Given the description of an element on the screen output the (x, y) to click on. 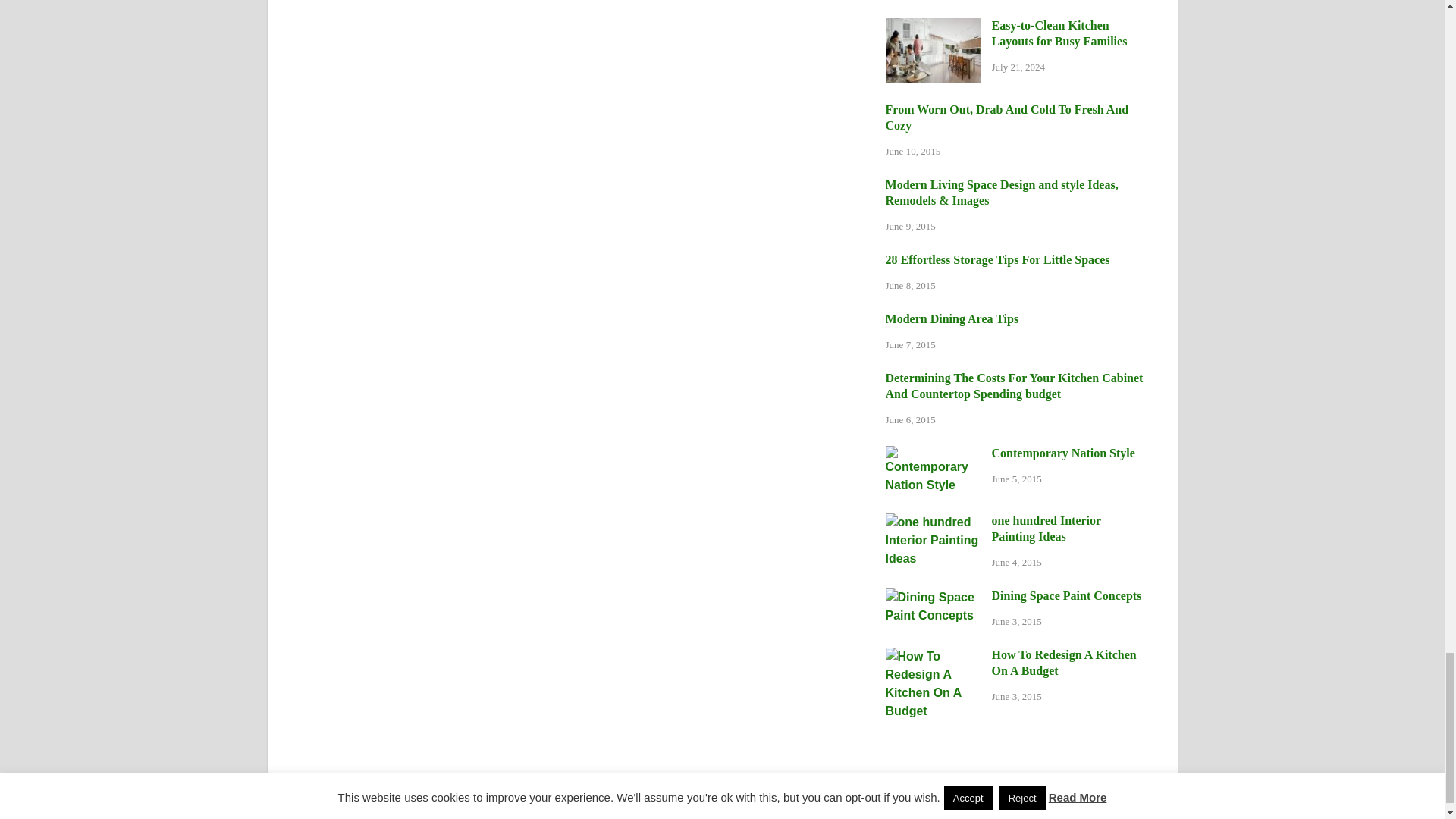
How To Redesign A Kitchen On A Budget (932, 656)
Contemporary Nation Style (932, 454)
one hundred Interior Painting Ideas (932, 521)
Dining Space Paint Concepts (932, 596)
Easy-to-Clean Kitchen Layouts for Busy Families (932, 26)
